Given the description of an element on the screen output the (x, y) to click on. 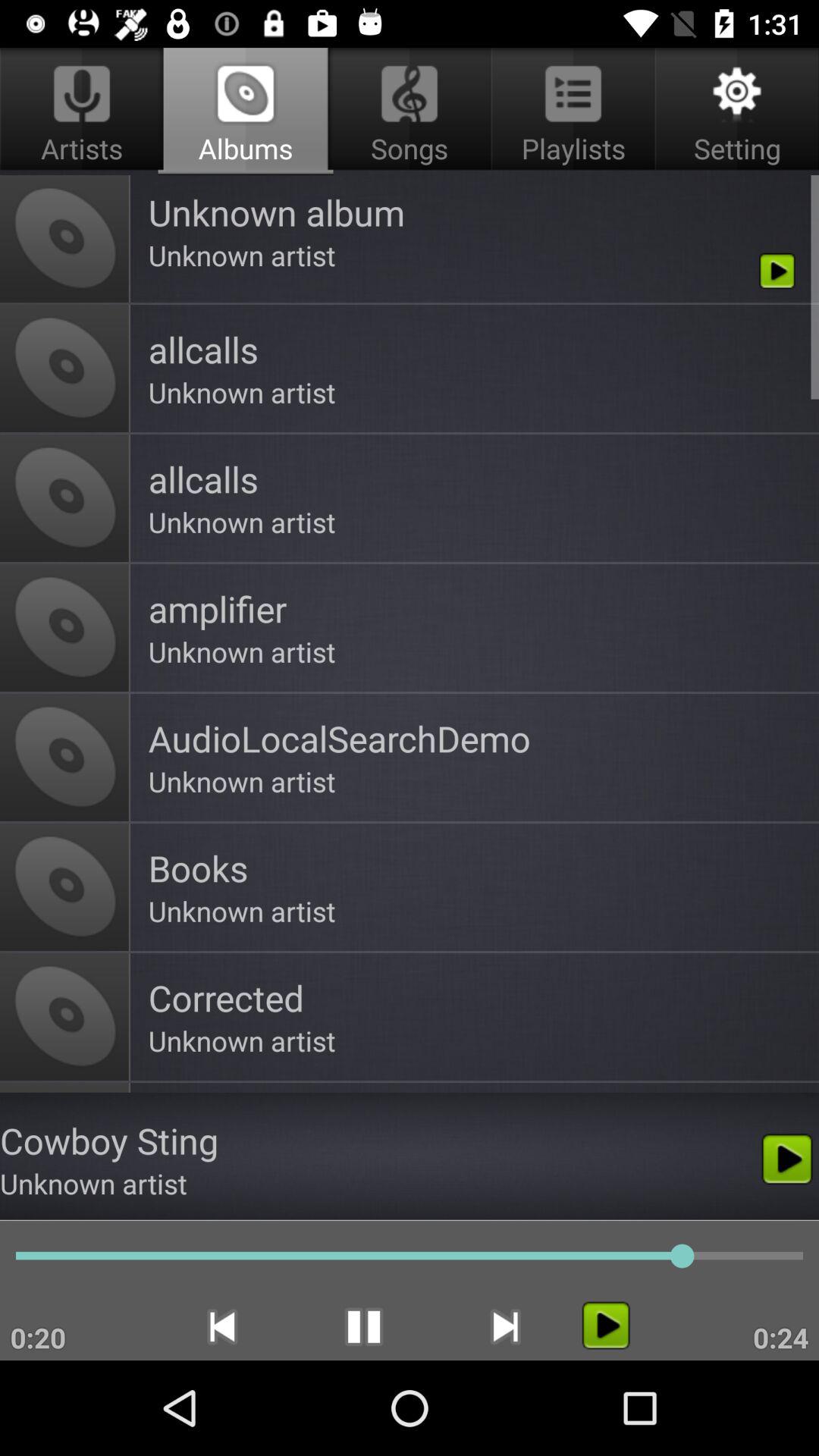
open app above unknown album app (409, 111)
